Given the description of an element on the screen output the (x, y) to click on. 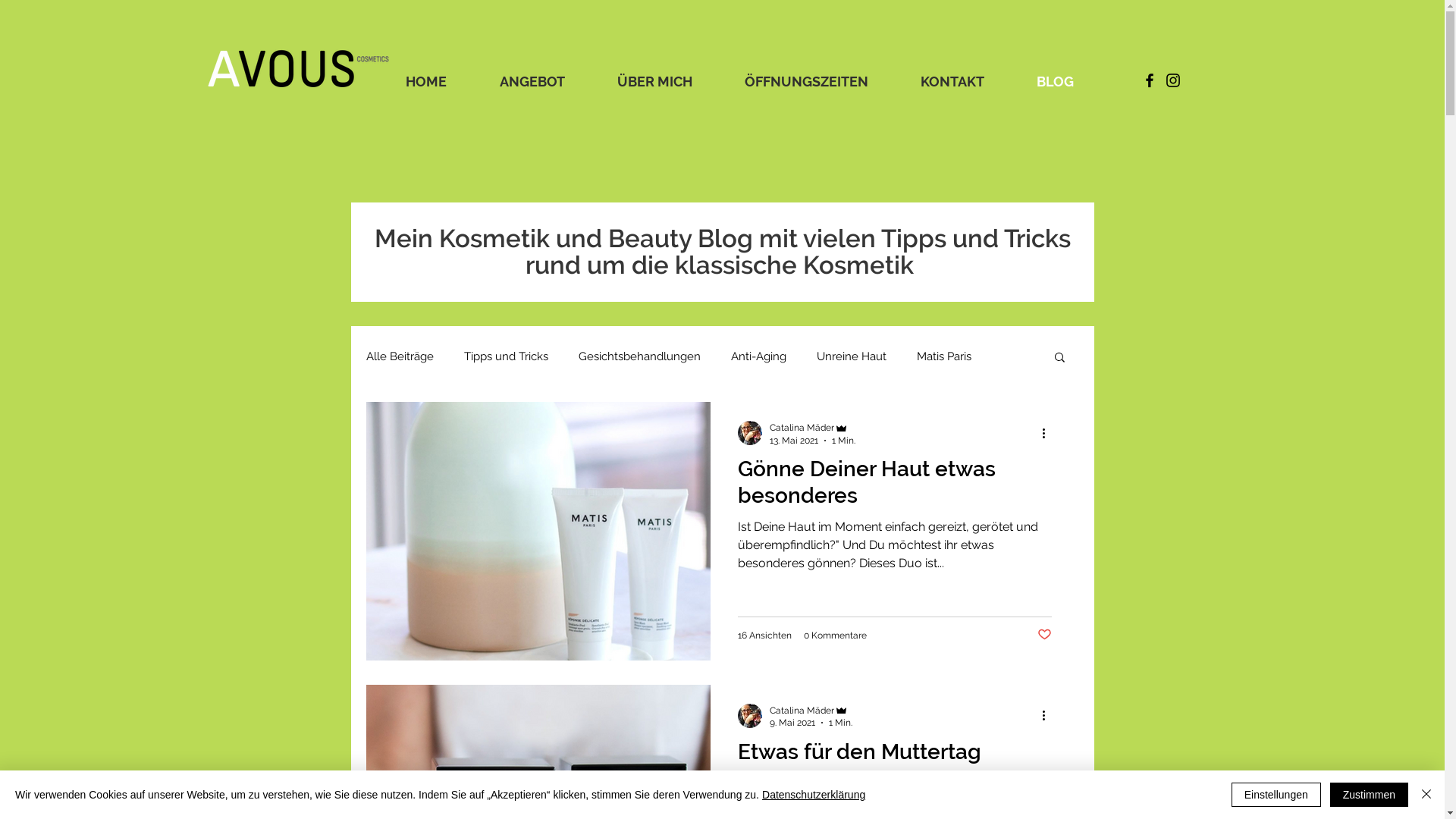
HOME Element type: text (441, 81)
KONTAKT Element type: text (966, 81)
Gesichtsbehandlungen Element type: text (638, 356)
Anti-Aging Element type: text (758, 356)
0 Kommentare Element type: text (834, 634)
Unreine Haut Element type: text (850, 356)
Tipps und Tricks Element type: text (506, 356)
BLOG Element type: text (1069, 81)
ANGEBOT Element type: text (546, 81)
Zustimmen Element type: text (1369, 794)
Einstellungen Element type: text (1276, 794)
Matis Paris Element type: text (943, 356)
